Given the description of an element on the screen output the (x, y) to click on. 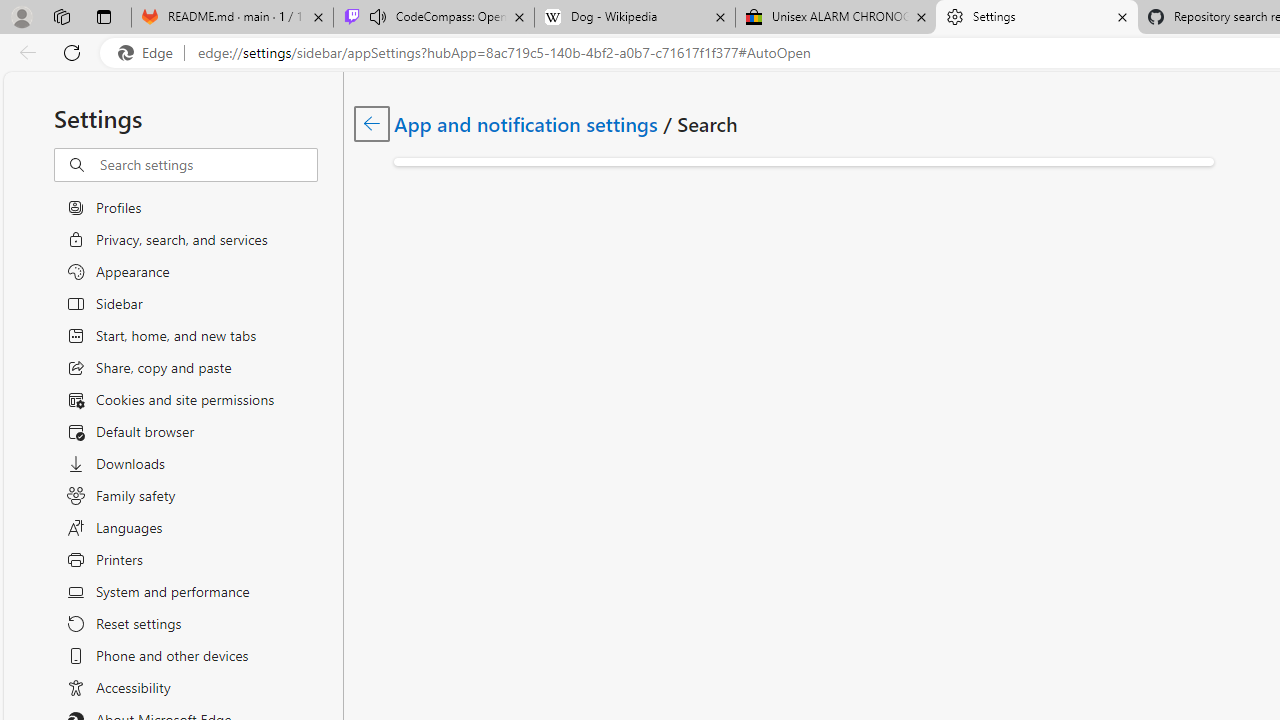
App and notification settings (527, 123)
Edge (150, 53)
Search settings (207, 165)
Mute tab (377, 16)
Go back to App and notification settings page. (372, 123)
Class: c01177 (371, 123)
